Given the description of an element on the screen output the (x, y) to click on. 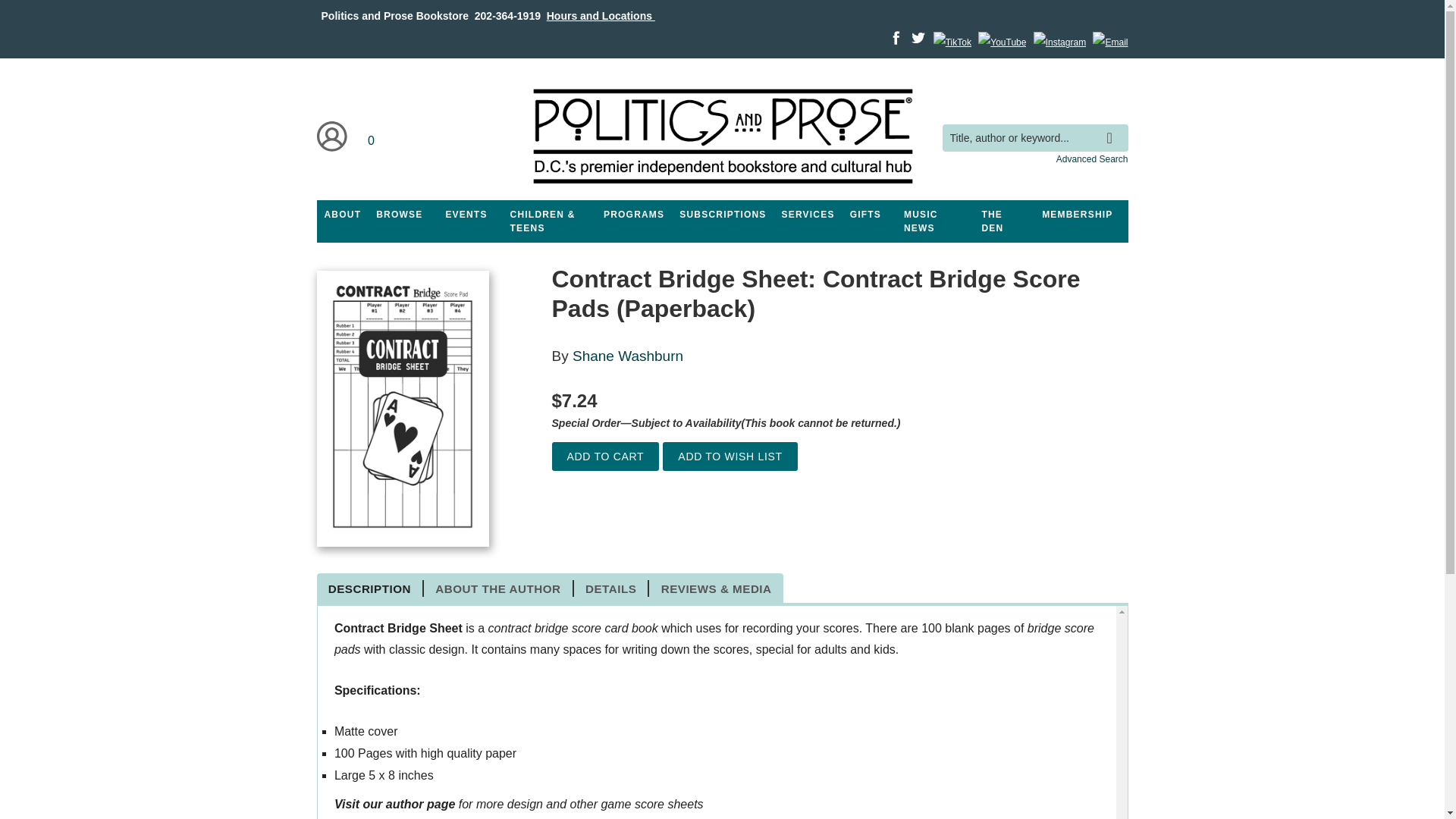
Children and Teens Department (548, 220)
Browse our shelves (398, 214)
search (1112, 126)
See information about our programs (633, 214)
Advanced Search (1092, 158)
PROGRAMS (633, 214)
search (1112, 126)
ABOUT (343, 214)
Add to Cart (605, 456)
